Given the description of an element on the screen output the (x, y) to click on. 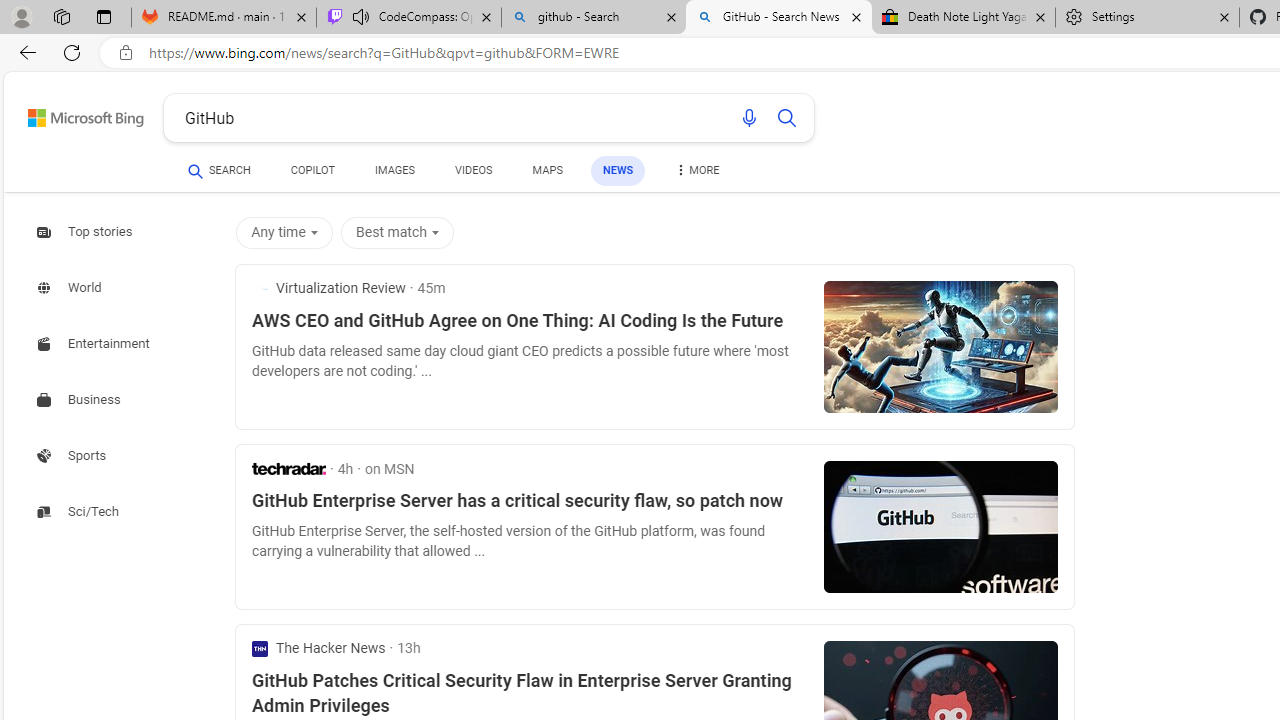
Mute tab (360, 16)
TechRadar (289, 468)
Search news from The Hacker News (319, 648)
github - Search (593, 17)
Best match (401, 232)
GitHub - Search News (779, 17)
Search news about Business (80, 400)
Search news from Virtualization Review (328, 288)
